Given the description of an element on the screen output the (x, y) to click on. 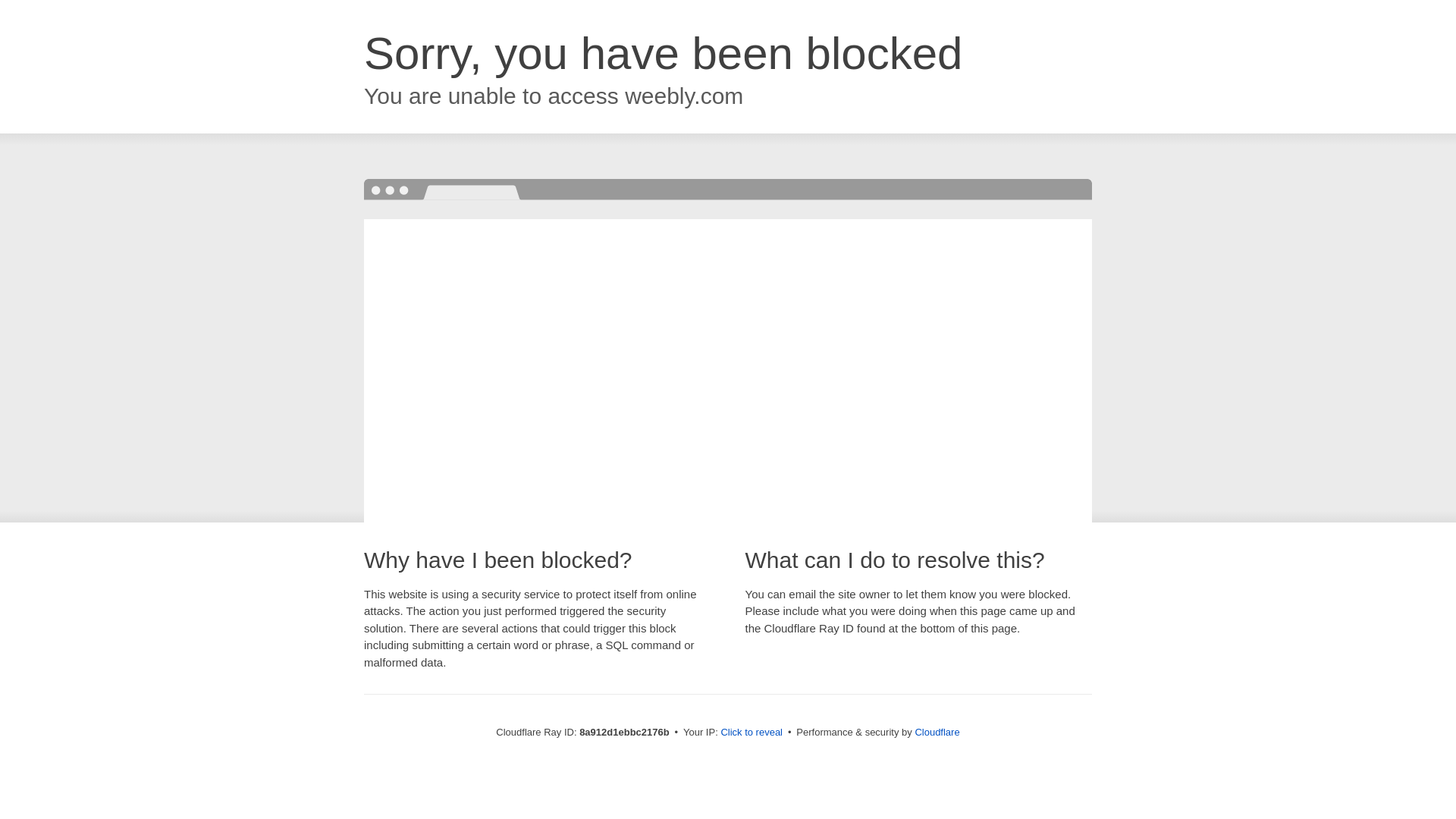
Click to reveal (751, 732)
Cloudflare (936, 731)
